Given the description of an element on the screen output the (x, y) to click on. 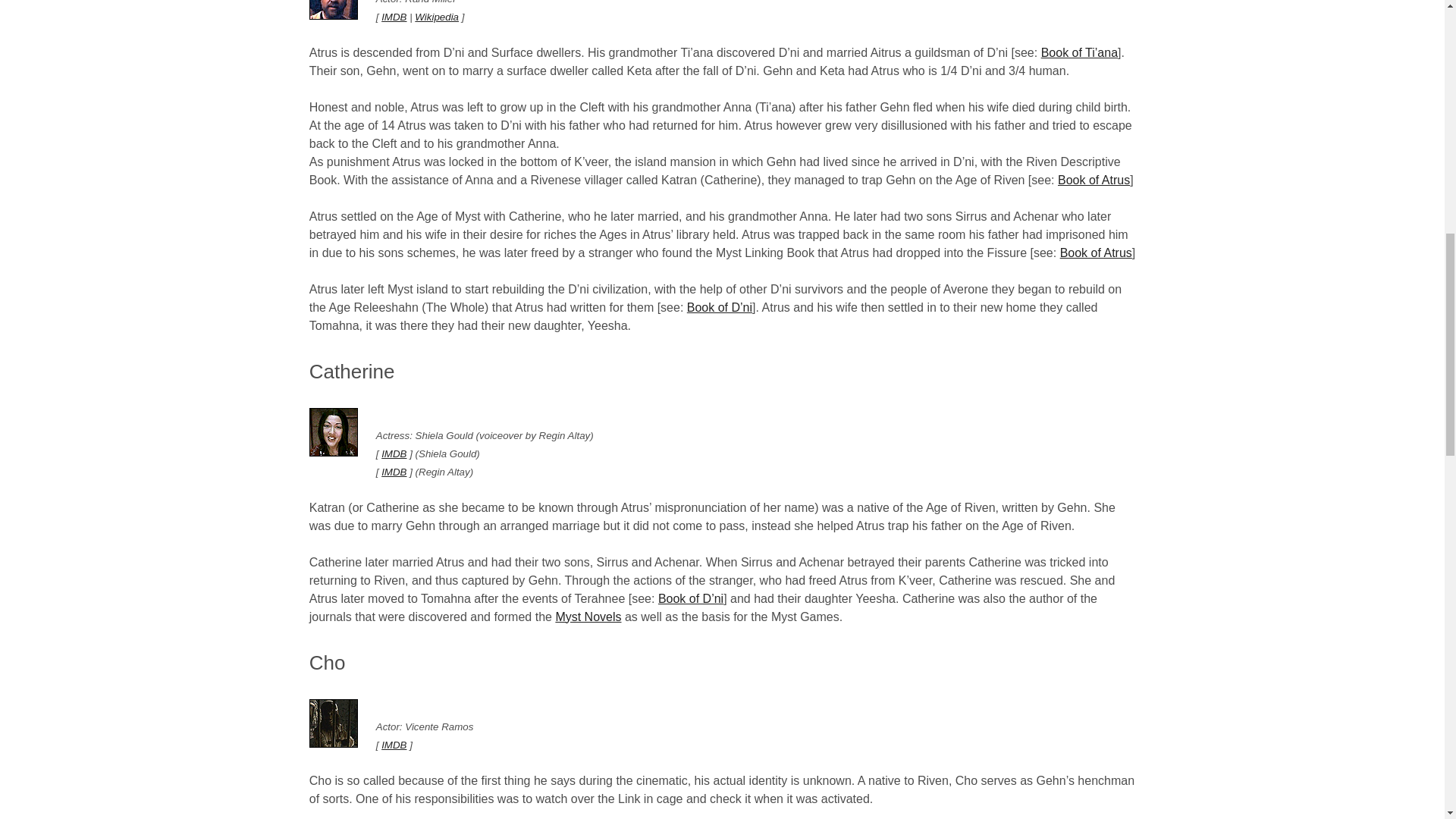
Myst: The Book of Atrus (1095, 251)
Myst: The Book of Ti'ana (1079, 51)
Rand Miller on Internet Movie Database (393, 16)
Shiela Gould on Internet Movie Database (393, 453)
Rand Miller on Wikipedia (436, 16)
Myst: The book of D'ni (690, 598)
Vincente Ramos on Internet Movie Database (393, 745)
Regin Altay on Internet Movie Database (393, 471)
Myst: The Book of Atrus (1093, 178)
Myst: The book of D'ni (719, 306)
